Given the description of an element on the screen output the (x, y) to click on. 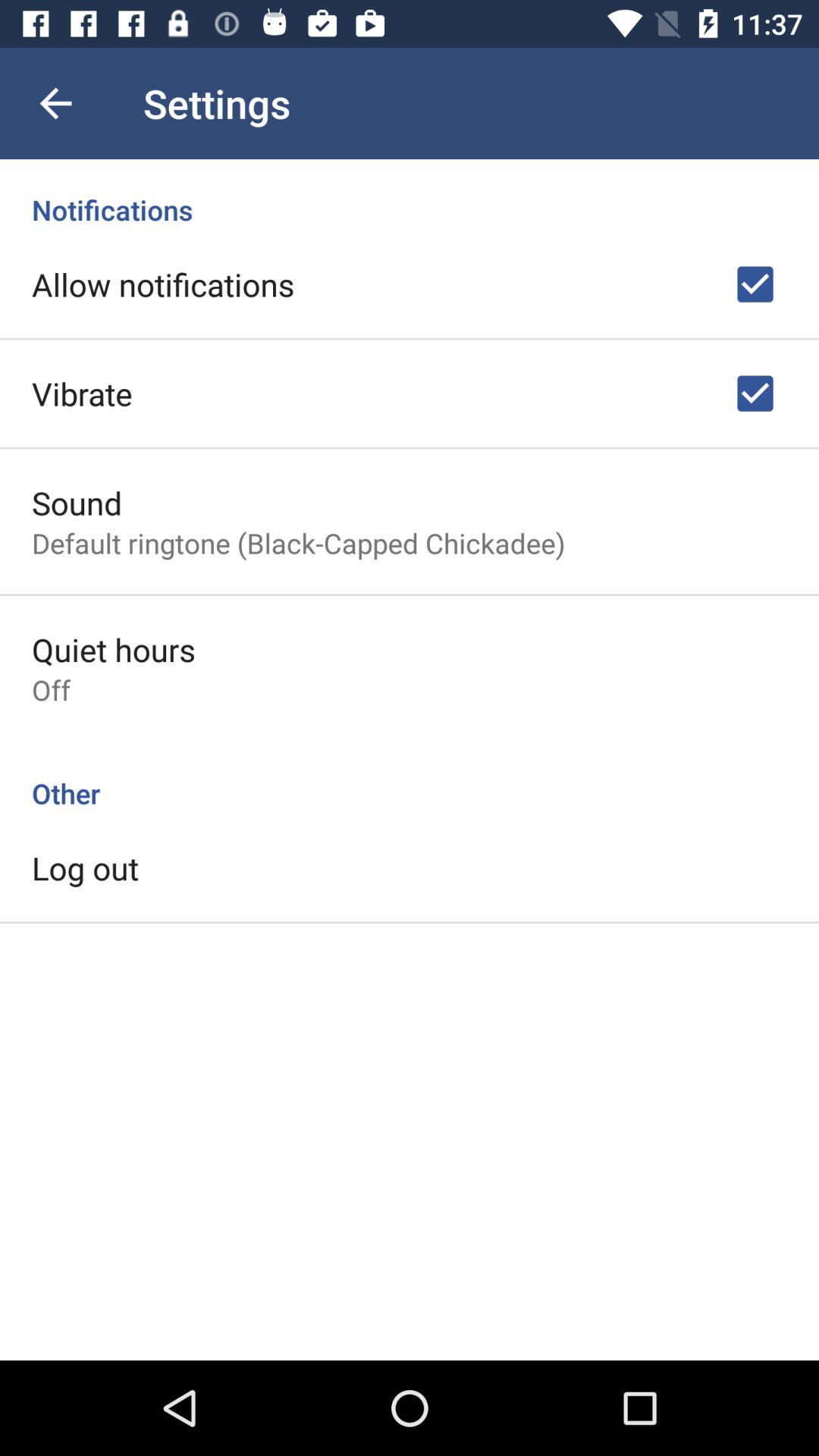
press the default ringtone black icon (298, 542)
